Given the description of an element on the screen output the (x, y) to click on. 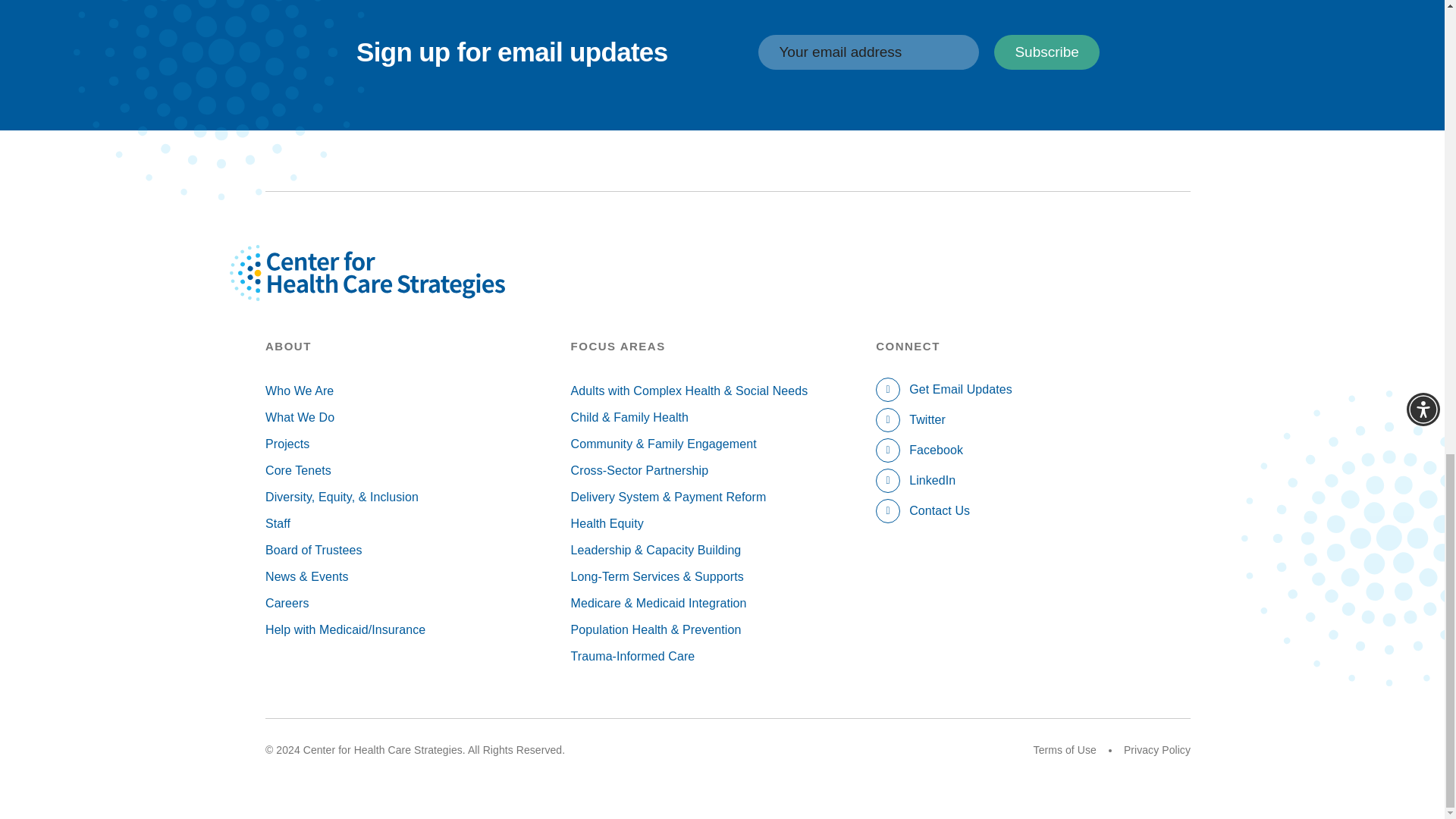
Board of Trustees (417, 550)
Core Tenets (417, 470)
Careers (417, 602)
Focus Areas (723, 346)
Center for Health Care Strategies (402, 290)
What We Do (417, 417)
Who We Are (417, 390)
Projects (417, 443)
Staff (417, 523)
About (417, 346)
